Given the description of an element on the screen output the (x, y) to click on. 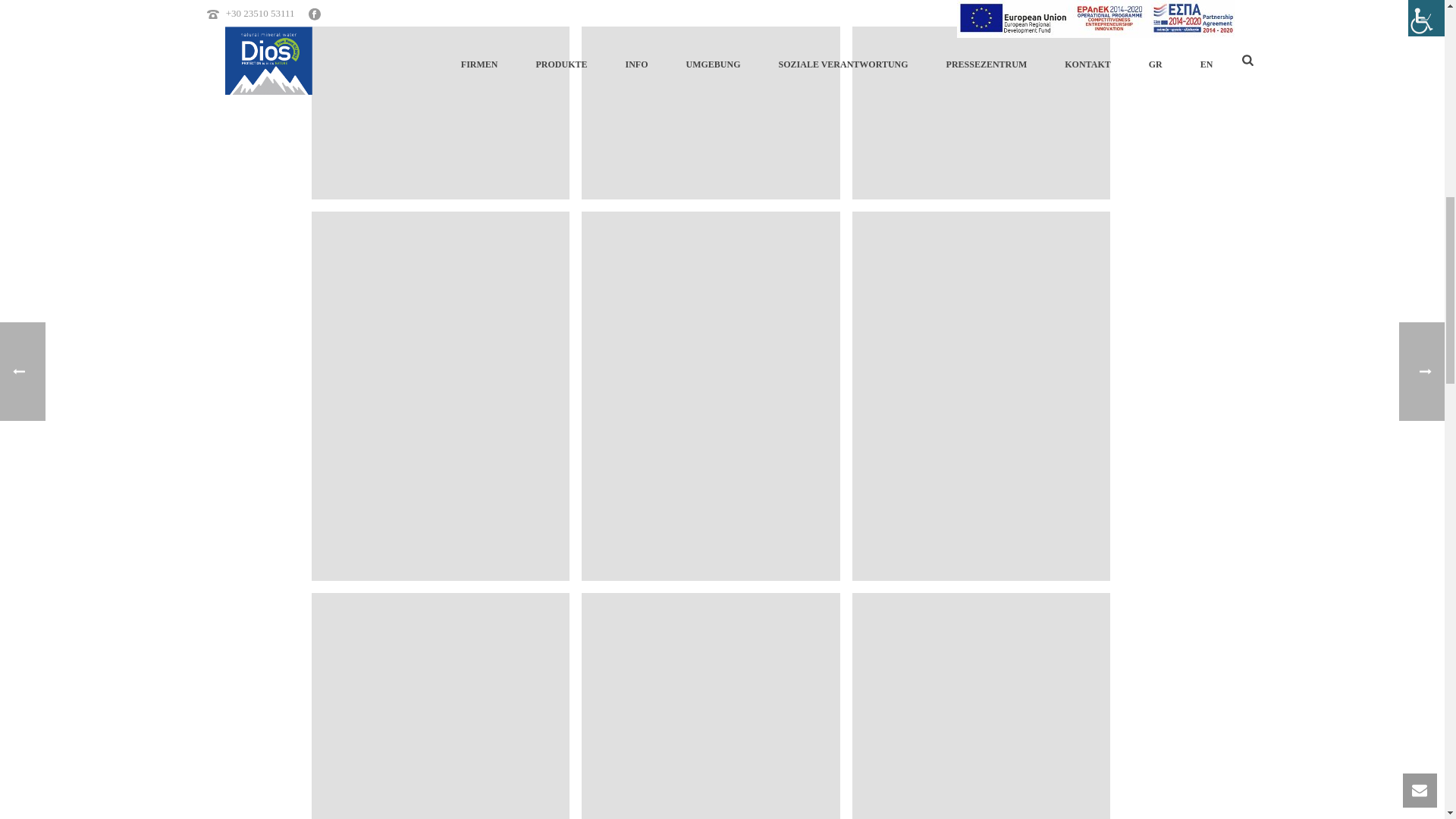
DIOS Olympus Marathon 2015 (980, 99)
DIOS Olympus Marathon 2015 (710, 99)
DIOS Olympus Marathon 2015 (440, 99)
